Given the description of an element on the screen output the (x, y) to click on. 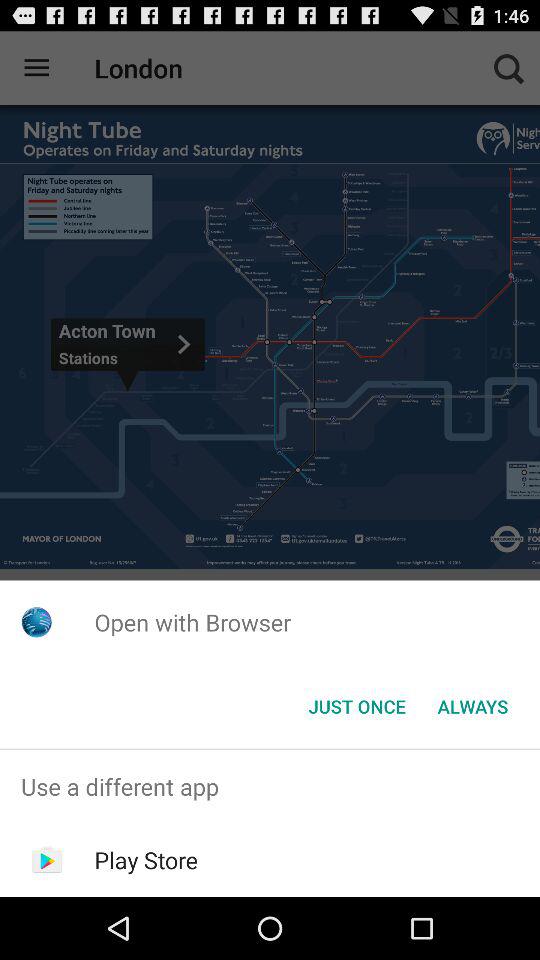
select always icon (472, 706)
